Given the description of an element on the screen output the (x, y) to click on. 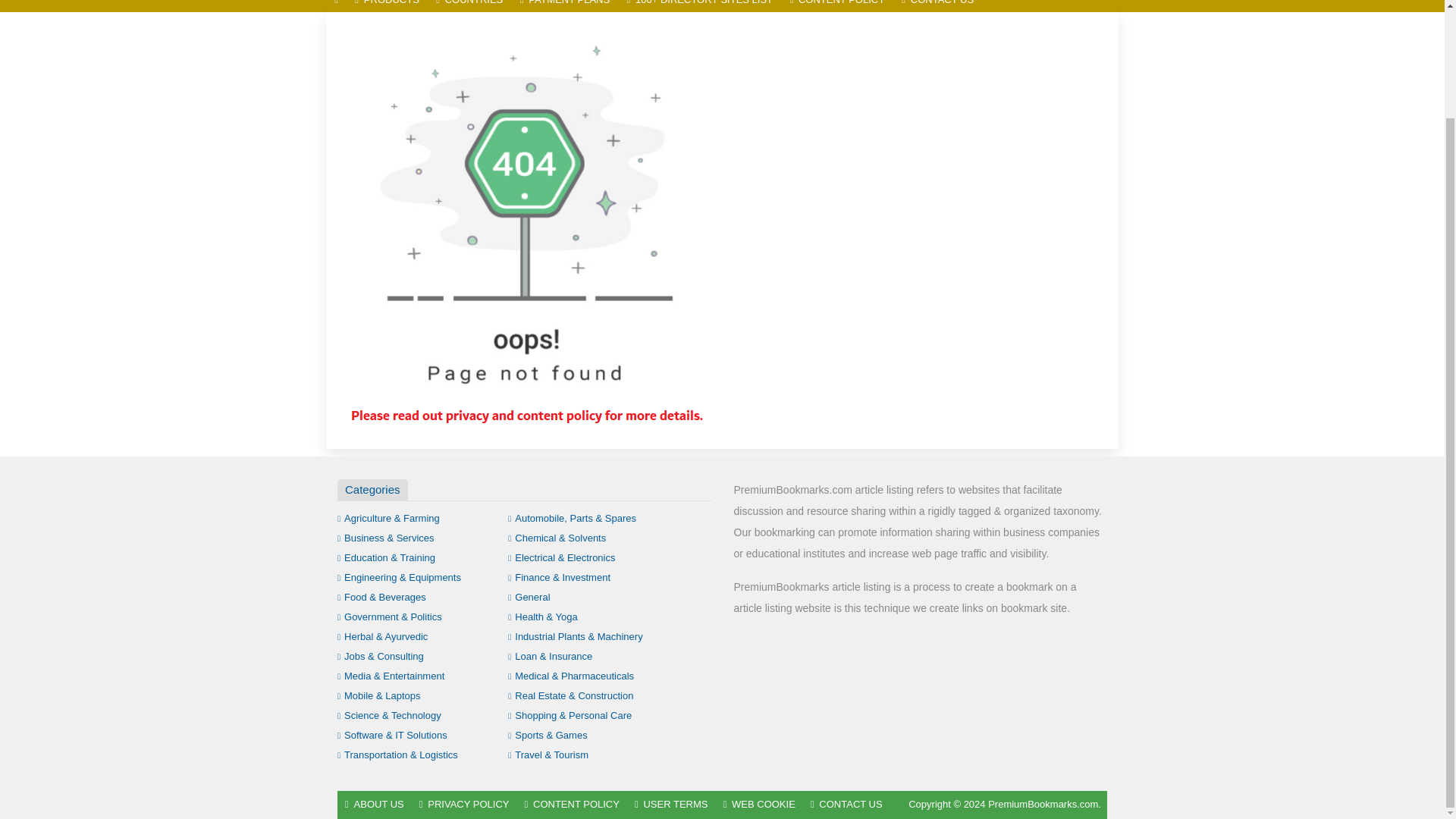
CONTENT POLICY (836, 6)
PRODUCTS (387, 6)
PAYMENT PLANS (564, 6)
General (529, 596)
CONTACT US (937, 6)
HOME (336, 6)
COUNTRIES (469, 6)
